Given the description of an element on the screen output the (x, y) to click on. 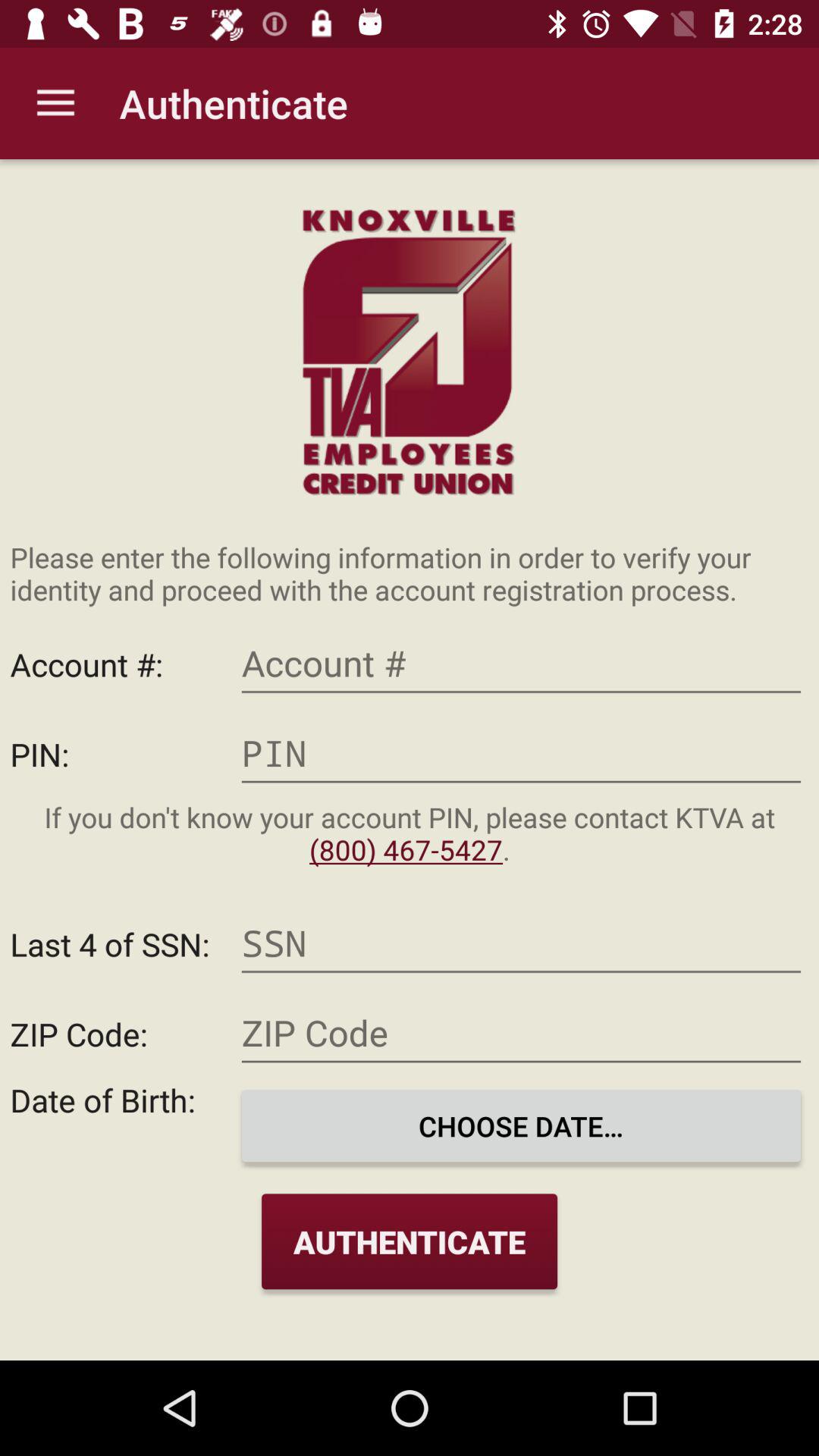
open icon next to date of birth: (520, 1125)
